Given the description of an element on the screen output the (x, y) to click on. 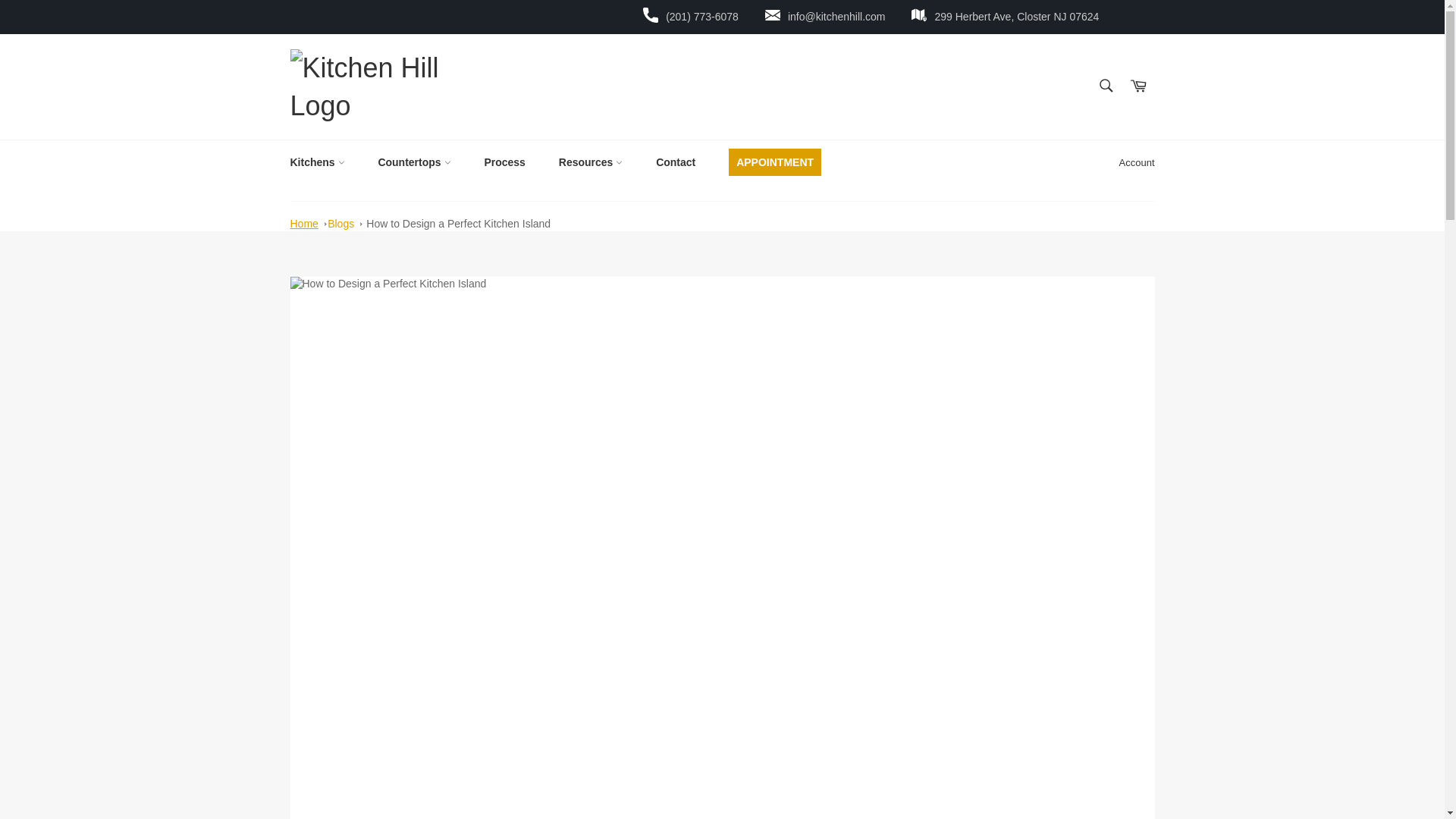
299 Herbert Ave, Closter NJ 07624 (1016, 16)
